Given the description of an element on the screen output the (x, y) to click on. 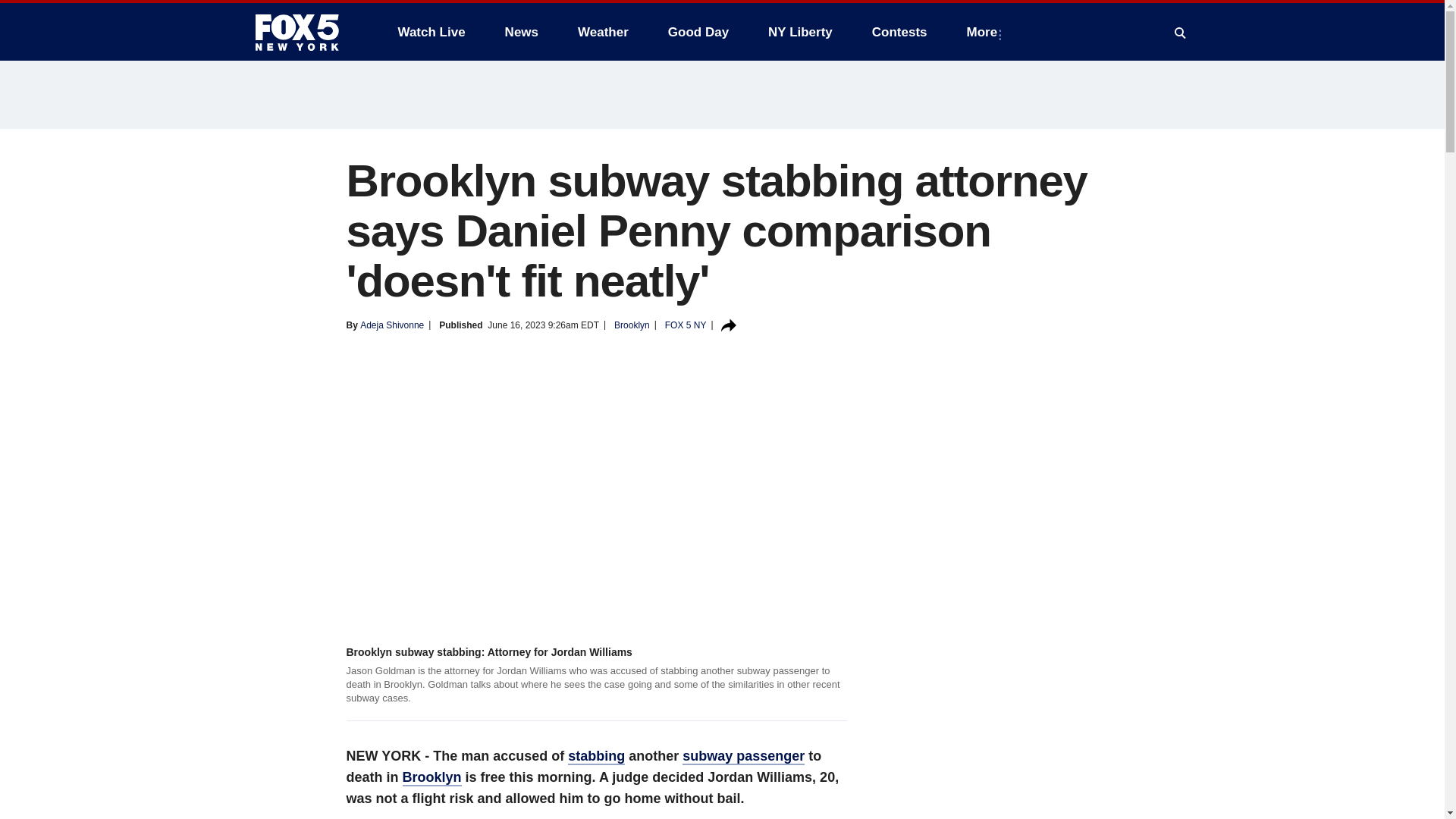
More (985, 32)
NY Liberty (799, 32)
Watch Live (431, 32)
Contests (899, 32)
Weather (603, 32)
Good Day (698, 32)
News (521, 32)
